Given the description of an element on the screen output the (x, y) to click on. 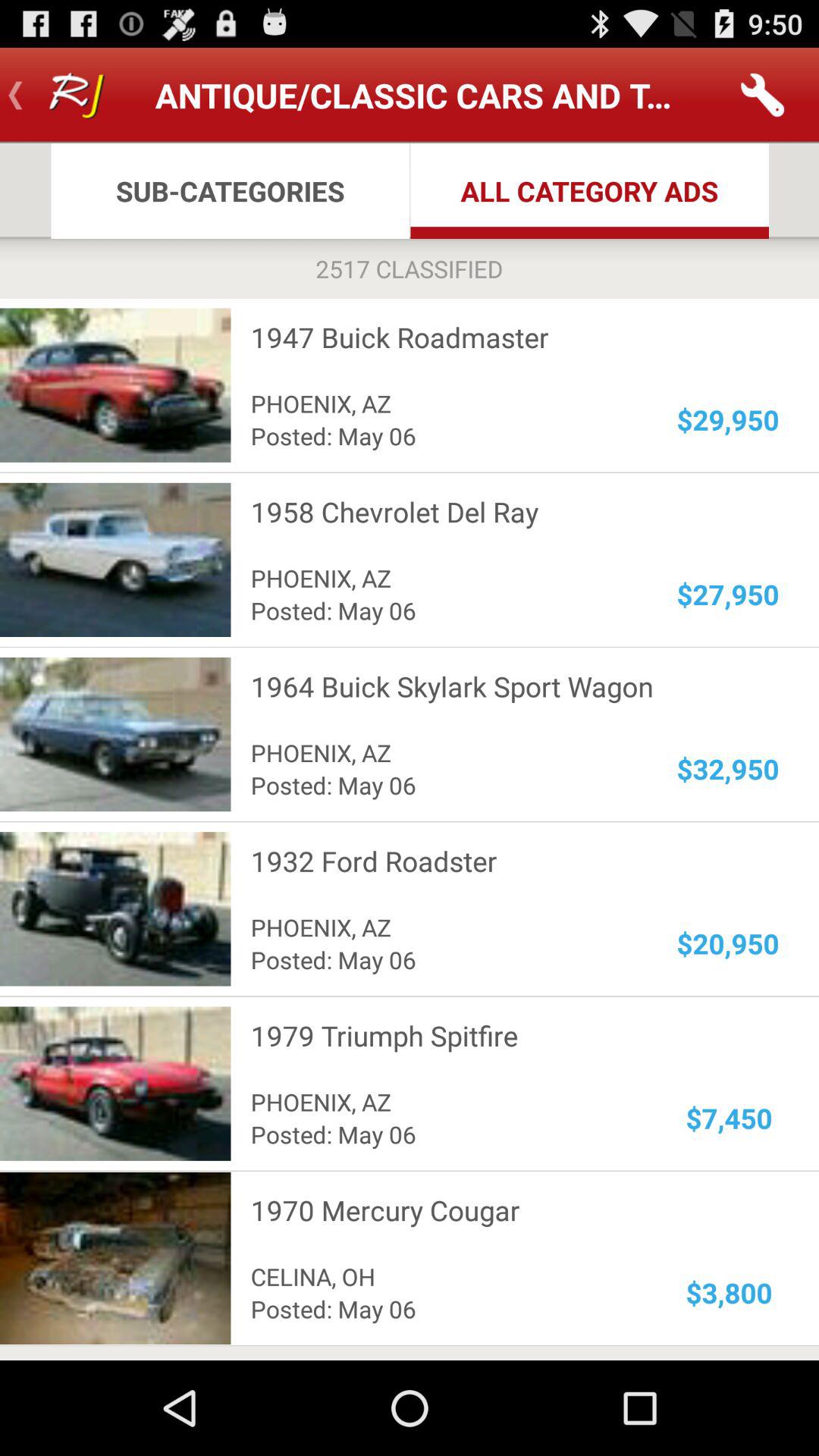
press the icon above the phoenix, az app (504, 860)
